Given the description of an element on the screen output the (x, y) to click on. 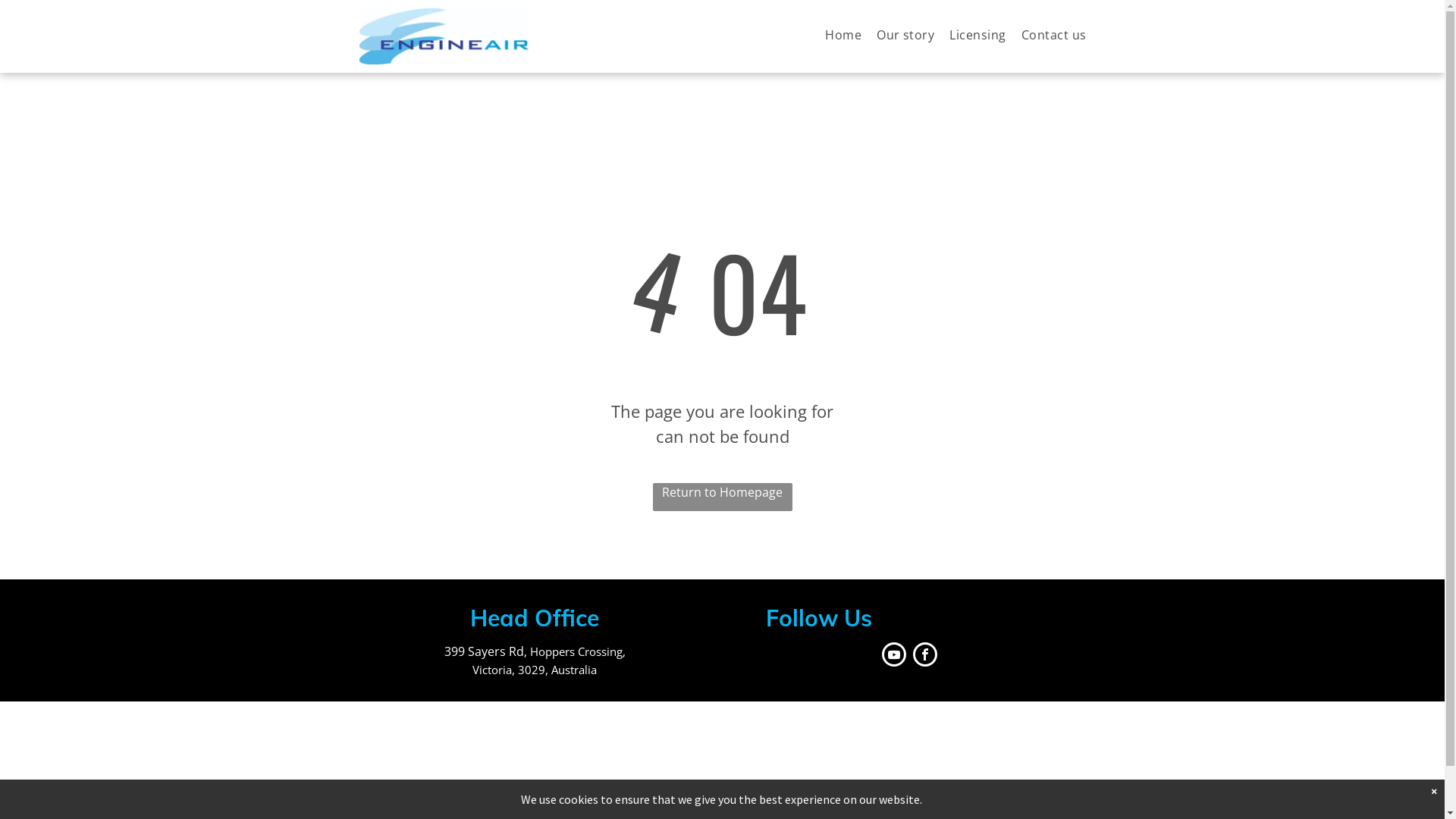
Licensing Element type: text (969, 34)
Return to Homepage Element type: text (721, 497)
Our story Element type: text (897, 34)
Contact us Element type: text (1046, 34)
Home Element type: text (835, 34)
